Given the description of an element on the screen output the (x, y) to click on. 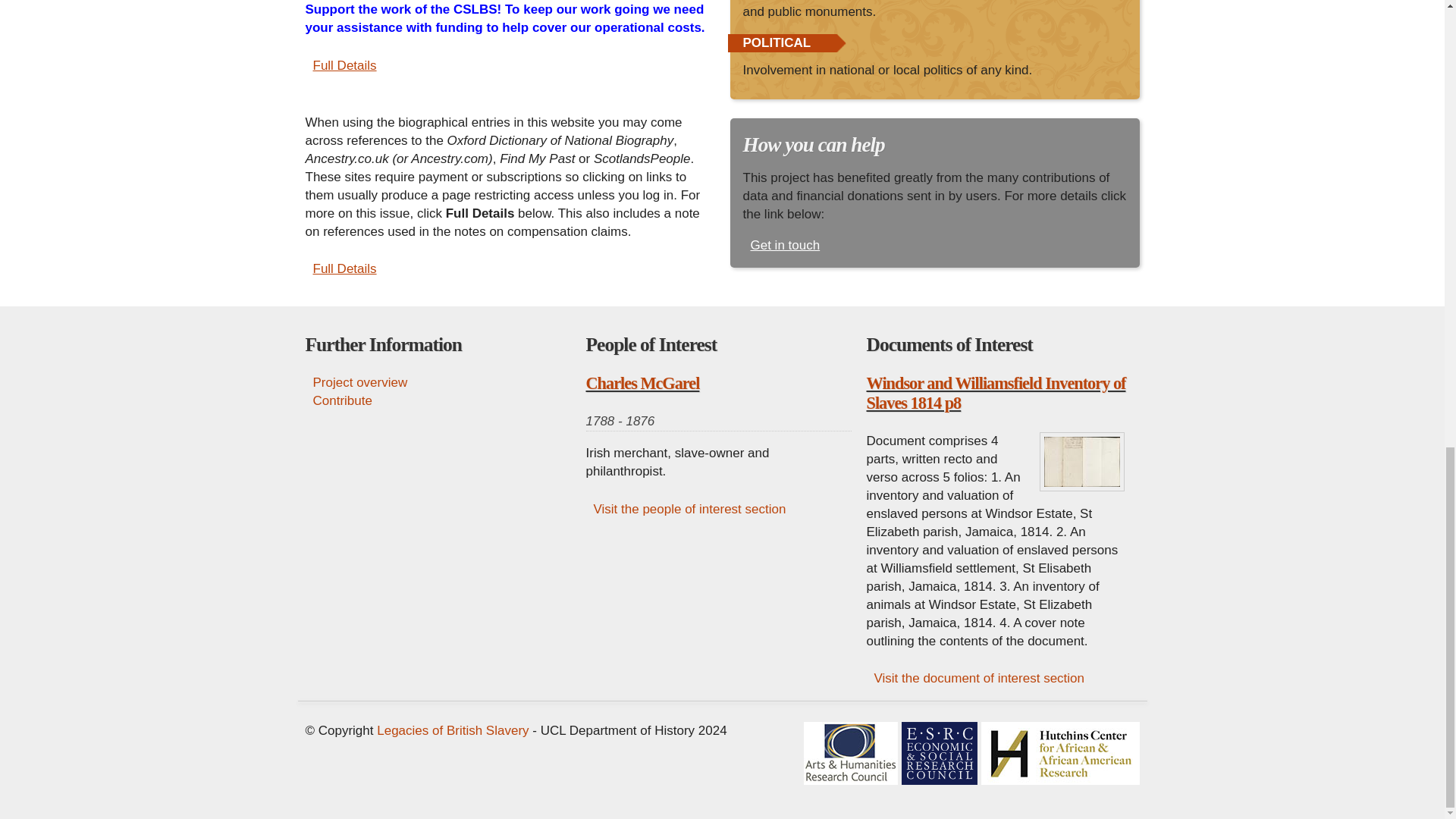
Hutchins Center (1060, 752)
Full Details (339, 65)
The Economic and Social Research Council (938, 752)
Arts and Humanities Research Council (850, 752)
Full Details (339, 268)
